Given the description of an element on the screen output the (x, y) to click on. 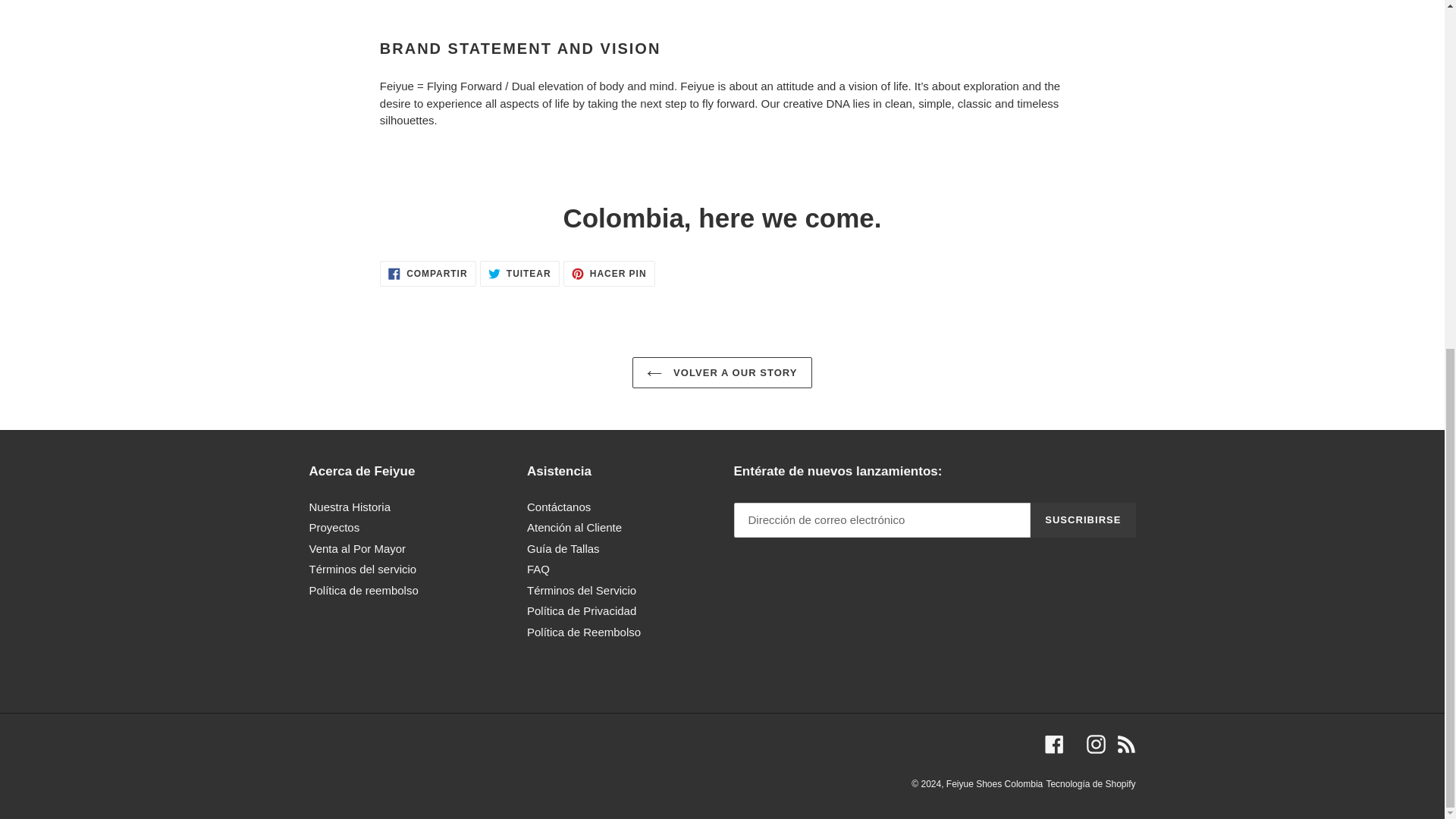
Facebook (1054, 743)
Nuestra Historia (349, 506)
Venta al Por Mayor (519, 273)
Feiyue Shoes Colombia (428, 273)
RSS (357, 548)
VOLVER A OUR STORY (994, 783)
Instagram (1125, 743)
FAQ (720, 373)
SUSCRIBIRSE (1095, 743)
Proyectos (609, 273)
